Given the description of an element on the screen output the (x, y) to click on. 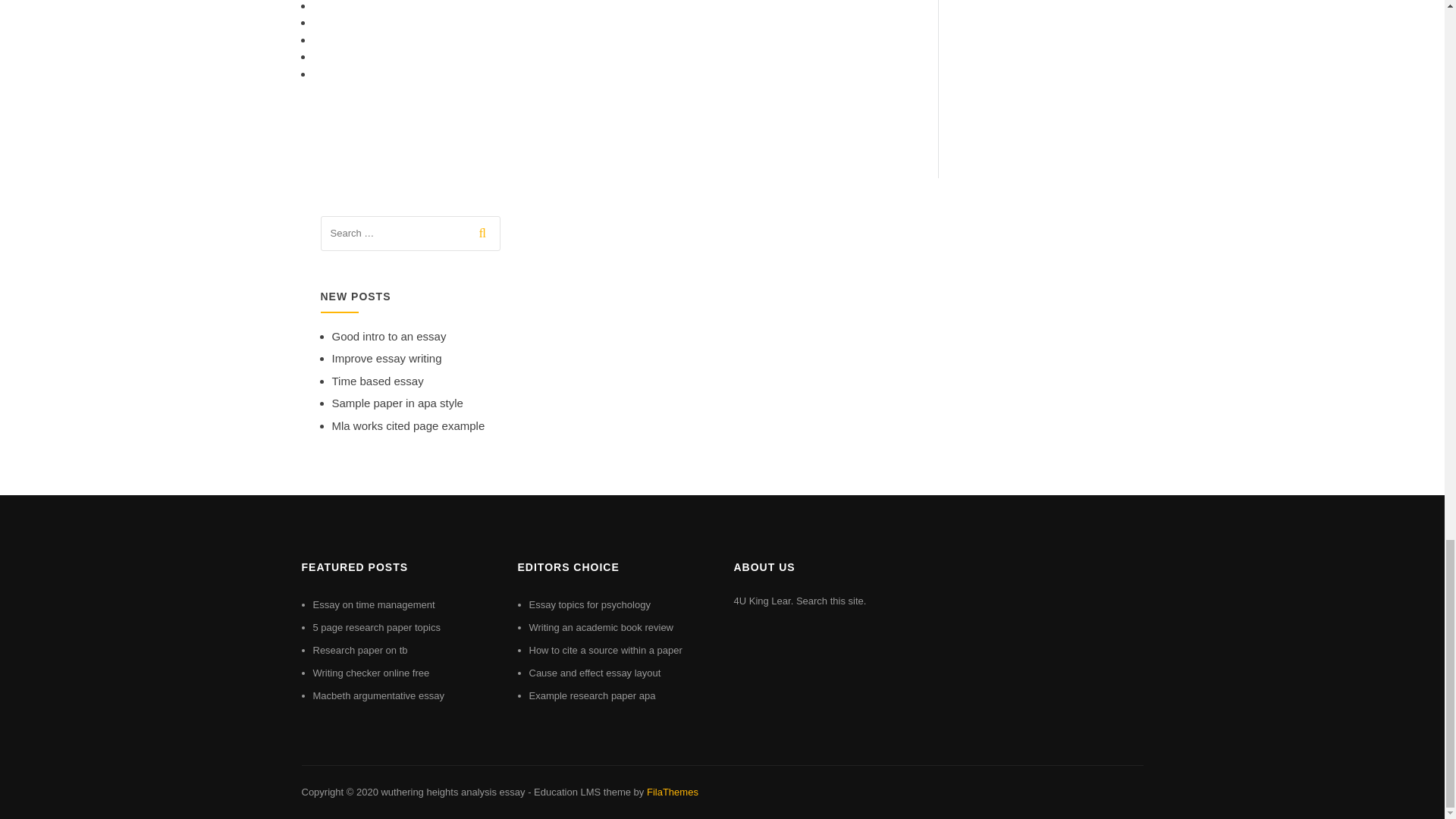
Writing checker online free (371, 672)
Improve essay writing (386, 358)
wuthering heights analysis essay (452, 791)
Example research paper apa (592, 695)
Essay on time management (373, 604)
Good intro to an essay (388, 336)
Time based essay (377, 380)
Mla works cited page example (407, 425)
Research paper on tb (360, 650)
wuthering heights analysis essay (452, 791)
